Given the description of an element on the screen output the (x, y) to click on. 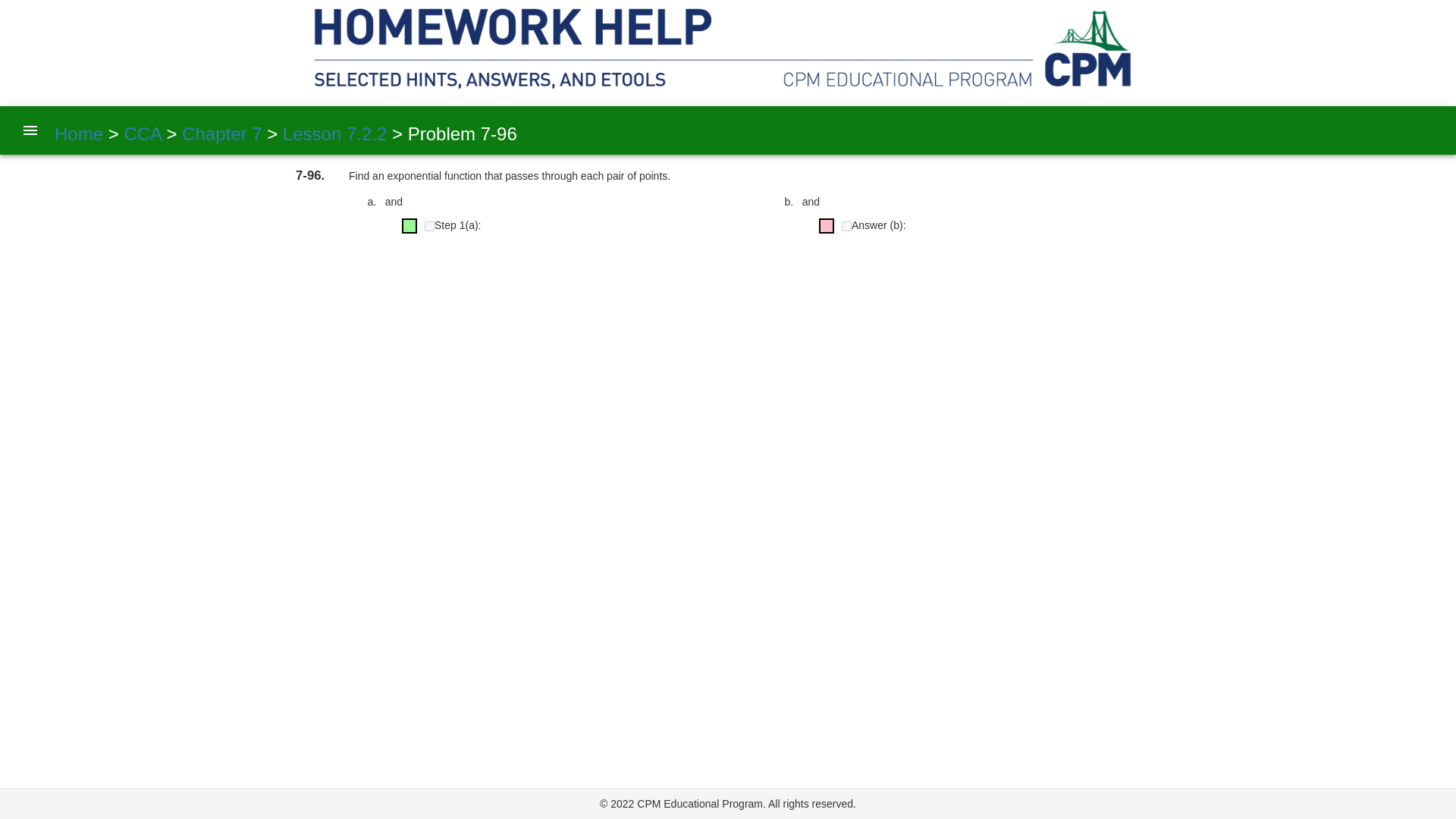
Lesson 7.2.2 (332, 133)
Chapter 7 (219, 133)
on (846, 225)
on (429, 225)
CCA (140, 133)
Home (79, 133)
